Given the description of an element on the screen output the (x, y) to click on. 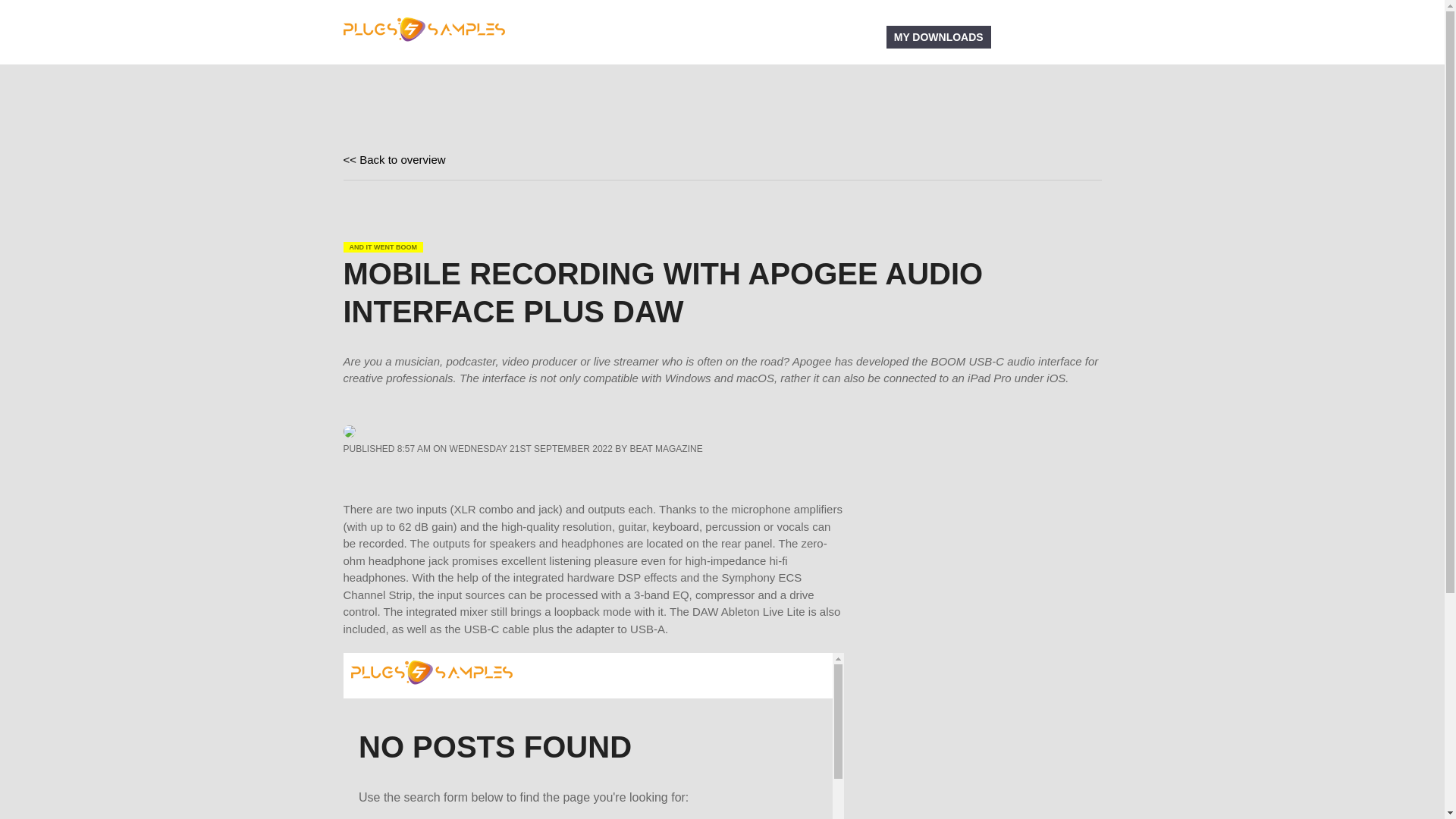
MY DOWNLOADS (938, 36)
HOME (624, 36)
SHOP (856, 37)
BLOG (677, 37)
ALL STUDIO PACKS (767, 36)
